Given the description of an element on the screen output the (x, y) to click on. 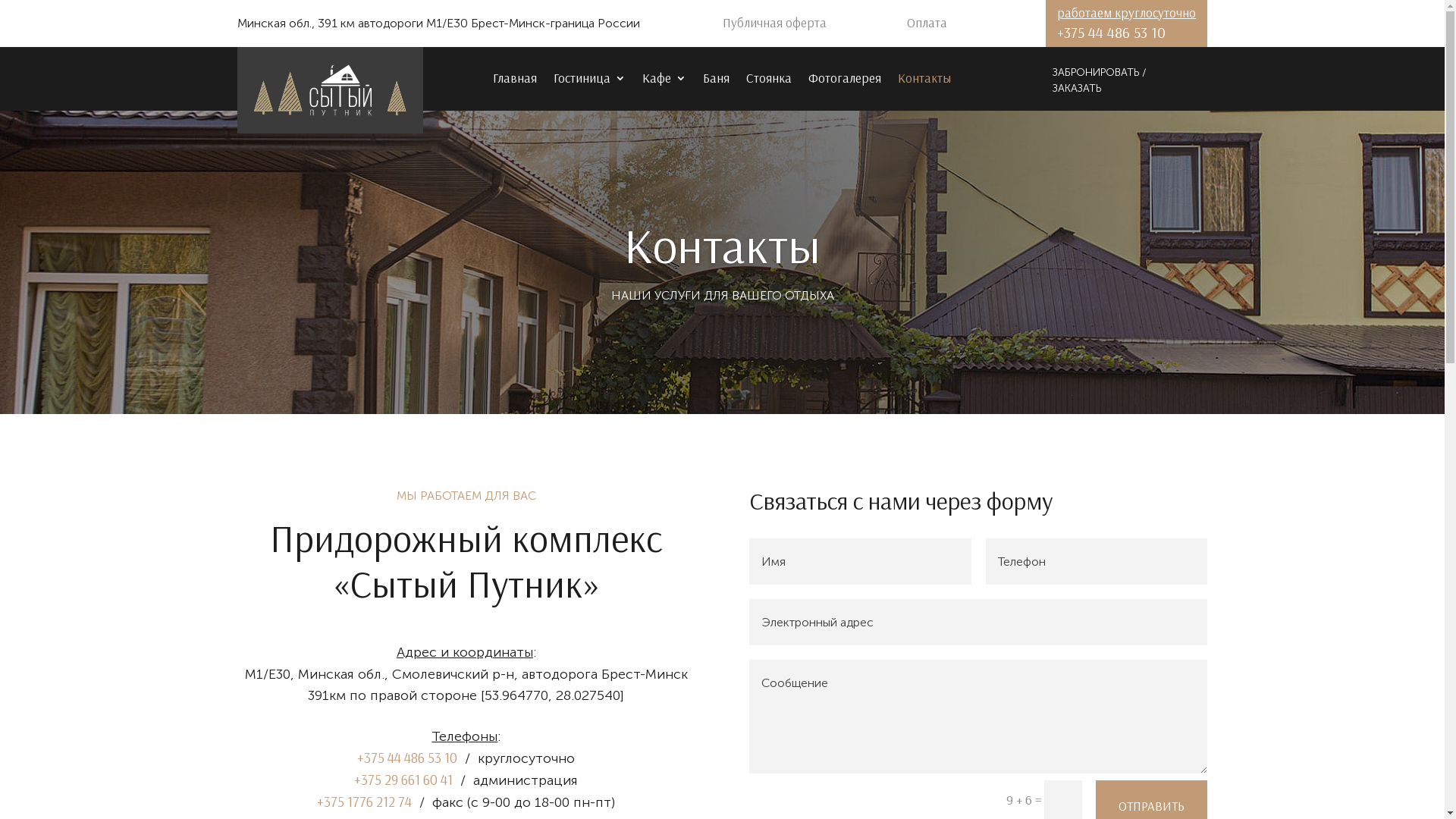
+375 44 486 53 10 Element type: text (407, 757)
+375 1776 212 74 Element type: text (363, 801)
+375 29 661 60 41 Element type: text (403, 779)
+375 44 486 53 10 Element type: text (1111, 31)
